Given the description of an element on the screen output the (x, y) to click on. 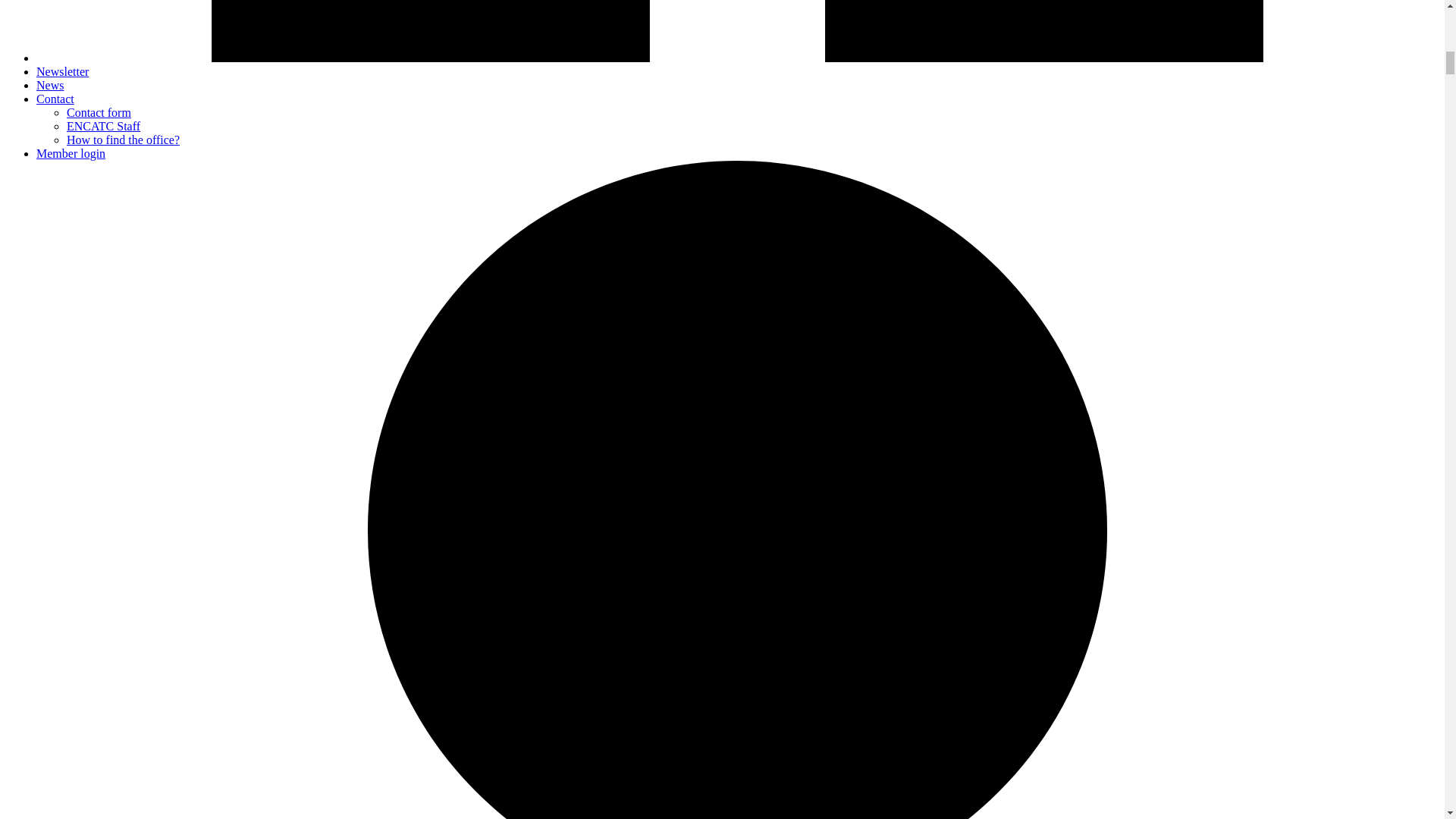
Contact (55, 98)
News (50, 84)
How to find the office? (122, 139)
Newsletter (62, 71)
Contact form (98, 112)
ENCATC news (62, 71)
Contact  form (98, 112)
ENCATC Staff (102, 125)
ENCATC Staff (102, 125)
Contact (55, 98)
